Given the description of an element on the screen output the (x, y) to click on. 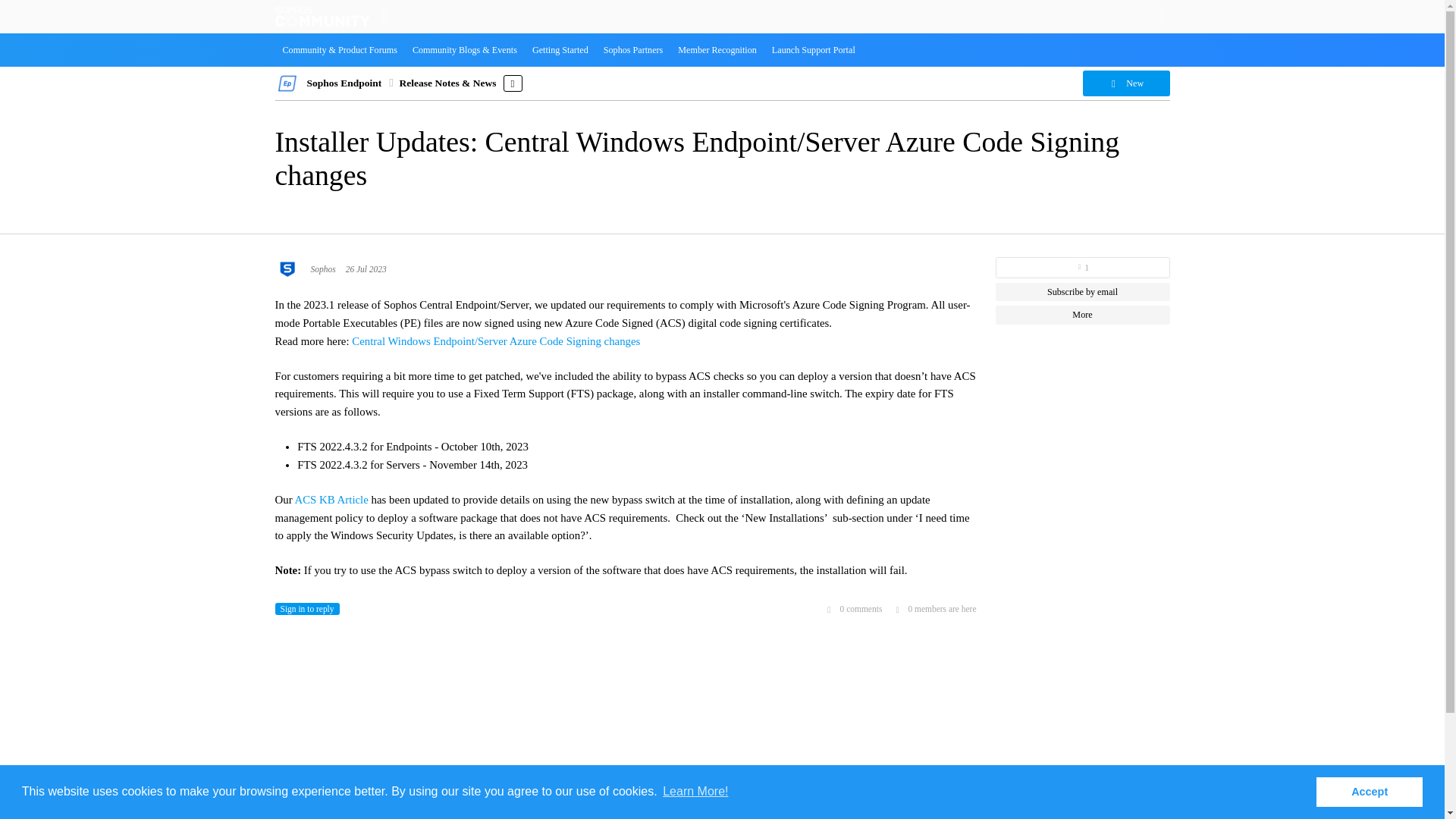
Learn More! (695, 791)
Getting Started (559, 49)
Groups (384, 15)
Sophos Partners (633, 49)
Site (384, 15)
Sophos Endpoint (343, 82)
Join or sign in (1161, 15)
Accept (1369, 791)
Launch Support Portal (813, 49)
User (1161, 15)
Home (322, 16)
Member Recognition (716, 49)
